Given the description of an element on the screen output the (x, y) to click on. 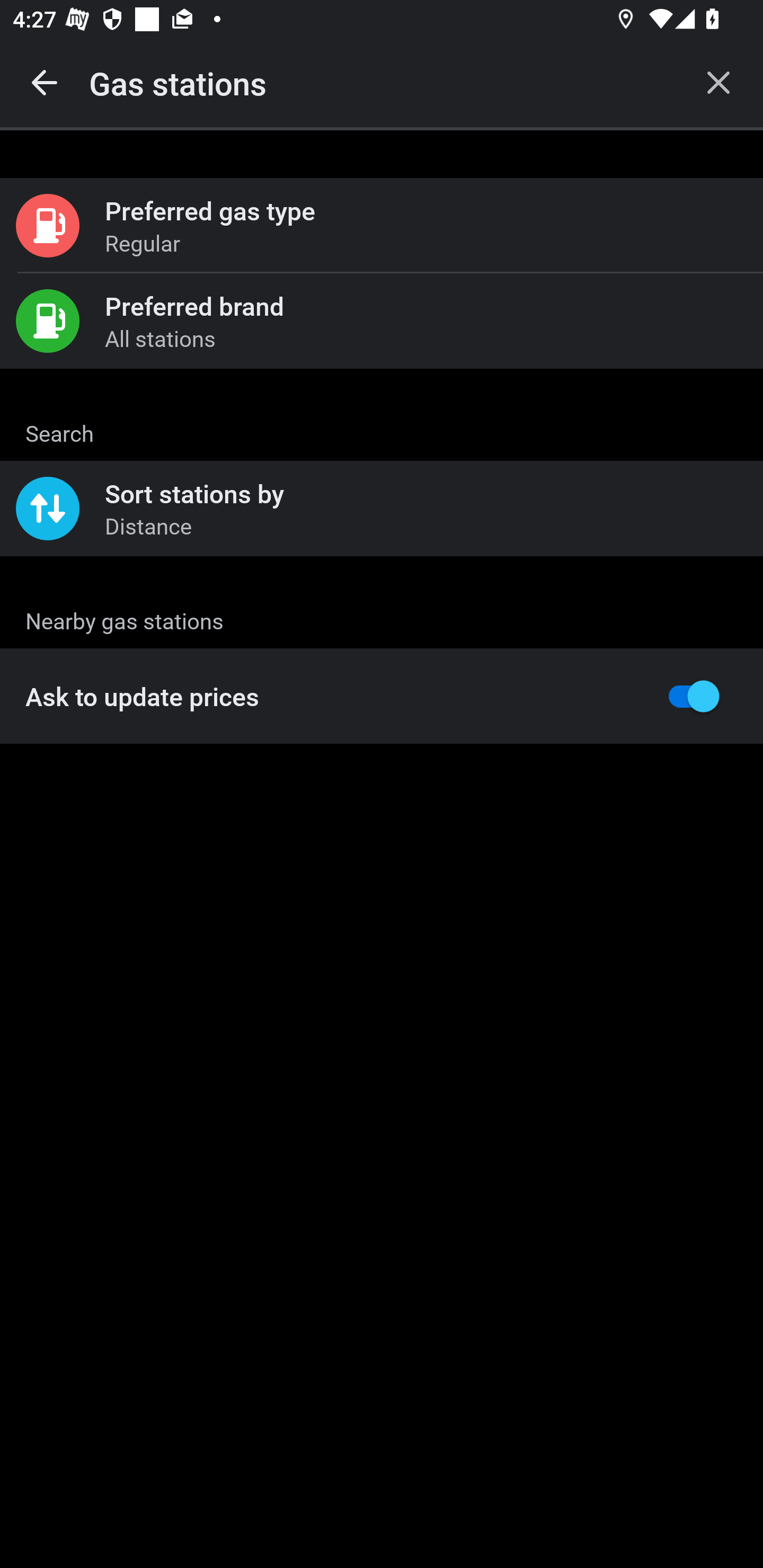
Preferred gas type Regular (381, 225)
Preferred brand All stations (381, 320)
ACTION_CELL_ICON Plan a drive ACTION_CELL_TEXT (381, 438)
Sort stations by Distance (381, 508)
ACTION_CELL_ICON Settings ACTION_CELL_TEXT (381, 620)
Ask to update prices (381, 696)
